Given the description of an element on the screen output the (x, y) to click on. 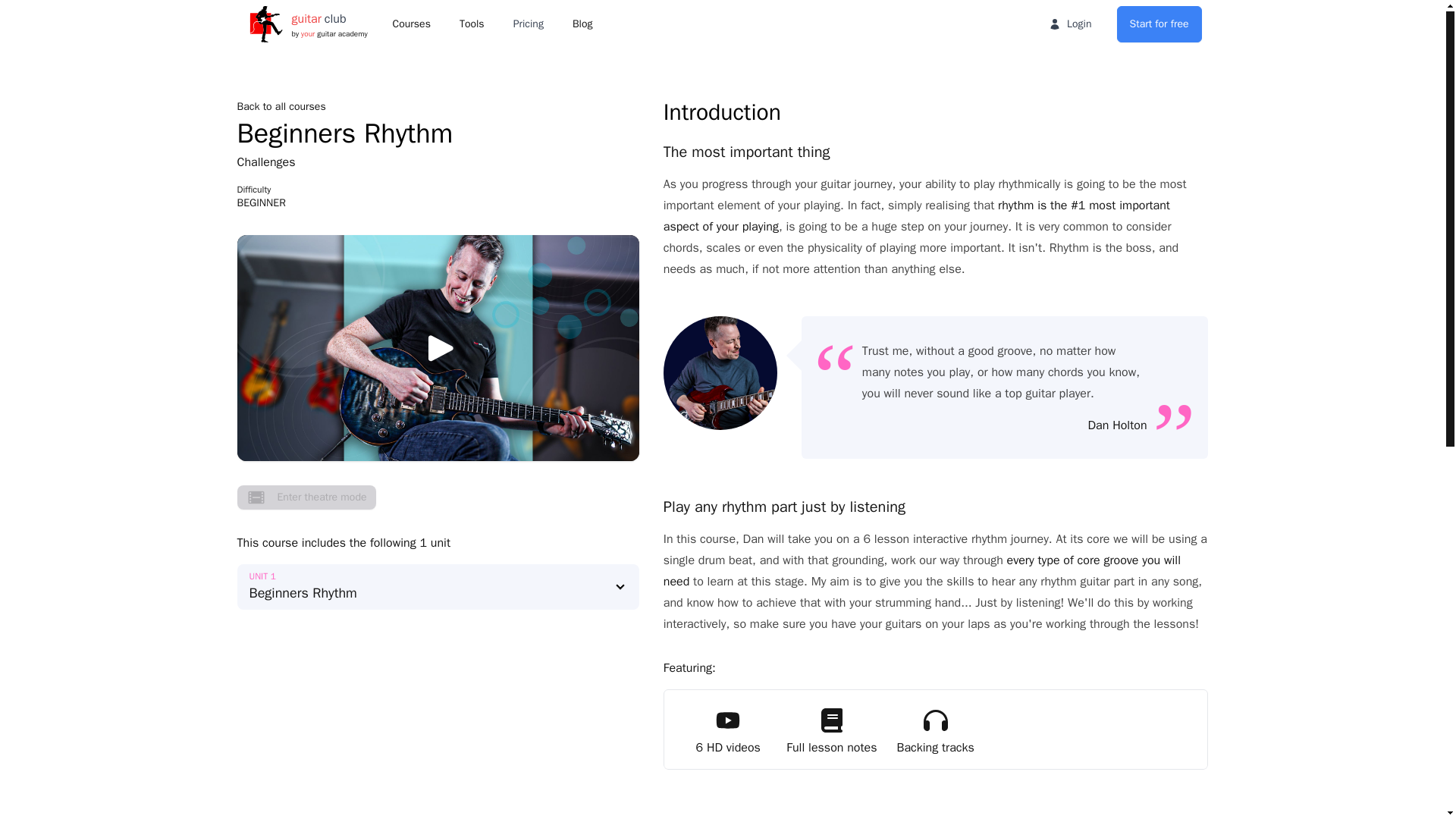
Enter theatre mode (307, 23)
Back to all courses (305, 497)
Login (279, 106)
Start for free (1069, 23)
Blog (1158, 23)
Pricing (582, 23)
